Given the description of an element on the screen output the (x, y) to click on. 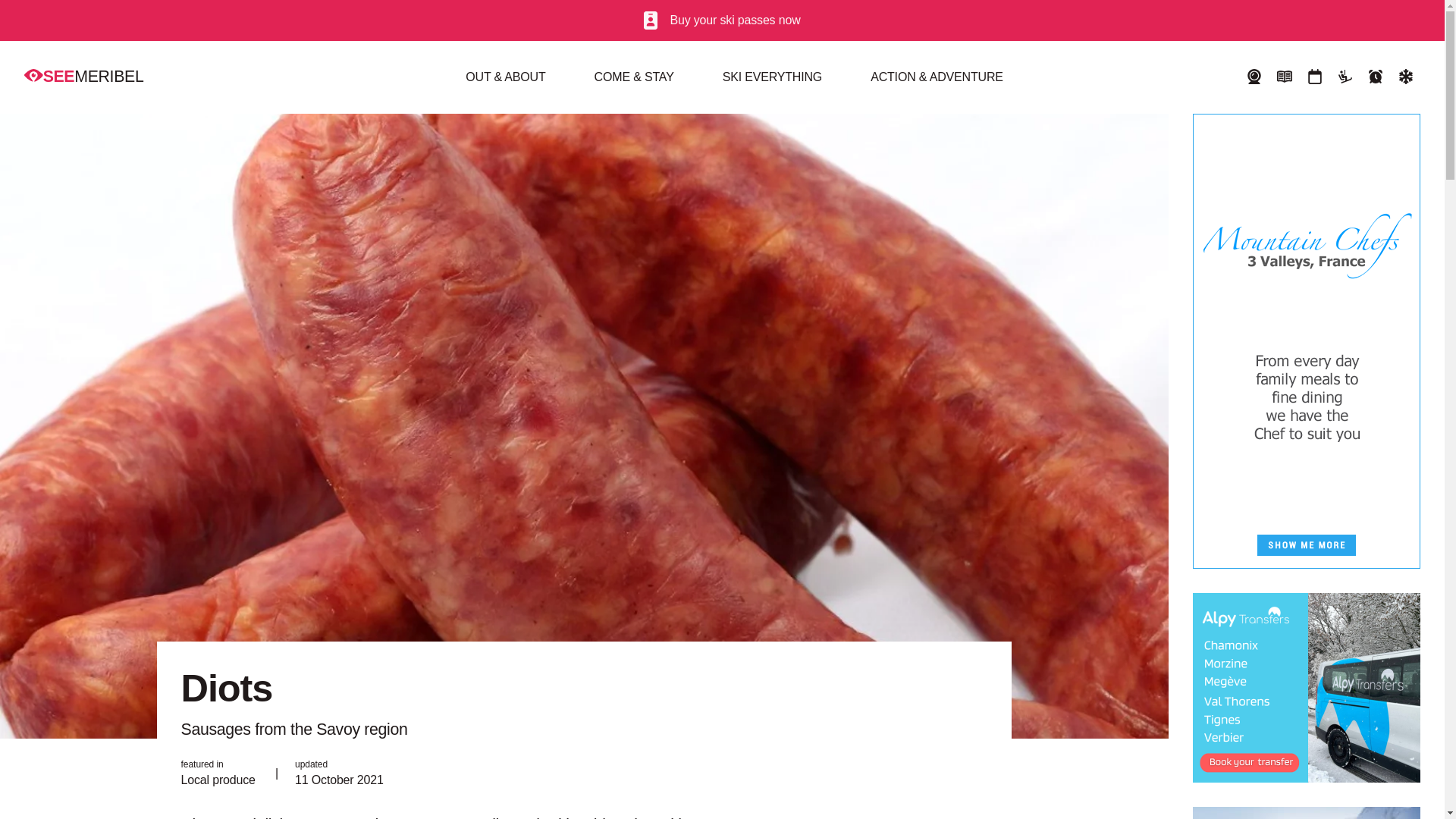
Season (1375, 77)
SEEMERIBEL (83, 76)
News (1284, 77)
Ski MPU (1306, 812)
Events (1314, 77)
Snow (1406, 77)
Lifts (1345, 77)
Webcams (1254, 77)
Go to home page (83, 76)
Geneva Airport ski resort transfers (1306, 687)
